Given the description of an element on the screen output the (x, y) to click on. 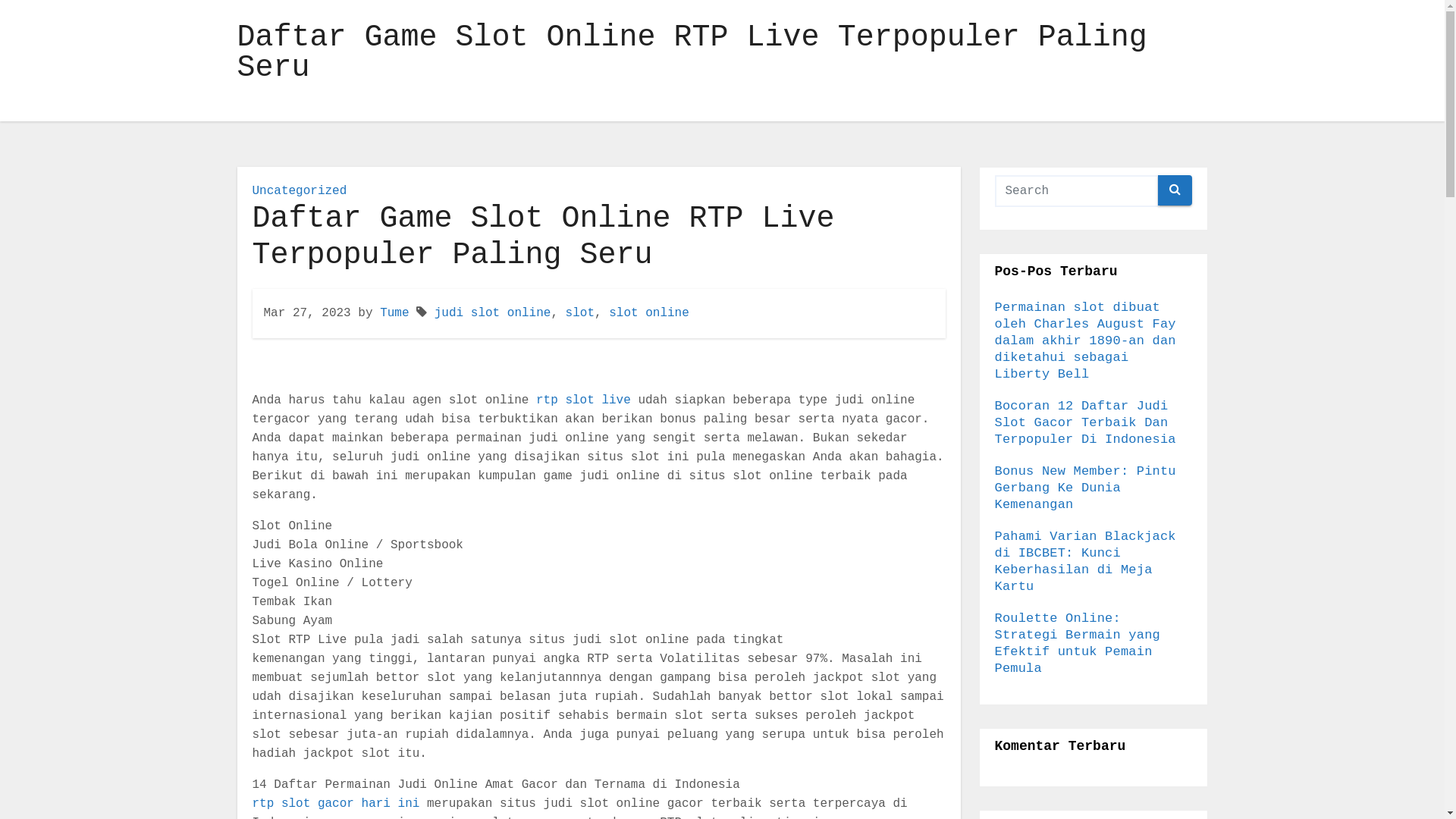
Tume Element type: text (393, 313)
slot Element type: text (579, 313)
judi slot online Element type: text (492, 313)
Uncategorized Element type: text (298, 190)
slot online Element type: text (648, 313)
rtp slot gacor hari ini Element type: text (335, 803)
rtp slot live Element type: text (583, 400)
Bonus New Member: Pintu Gerbang Ke Dunia Kemenangan Element type: text (1085, 487)
